Given the description of an element on the screen output the (x, y) to click on. 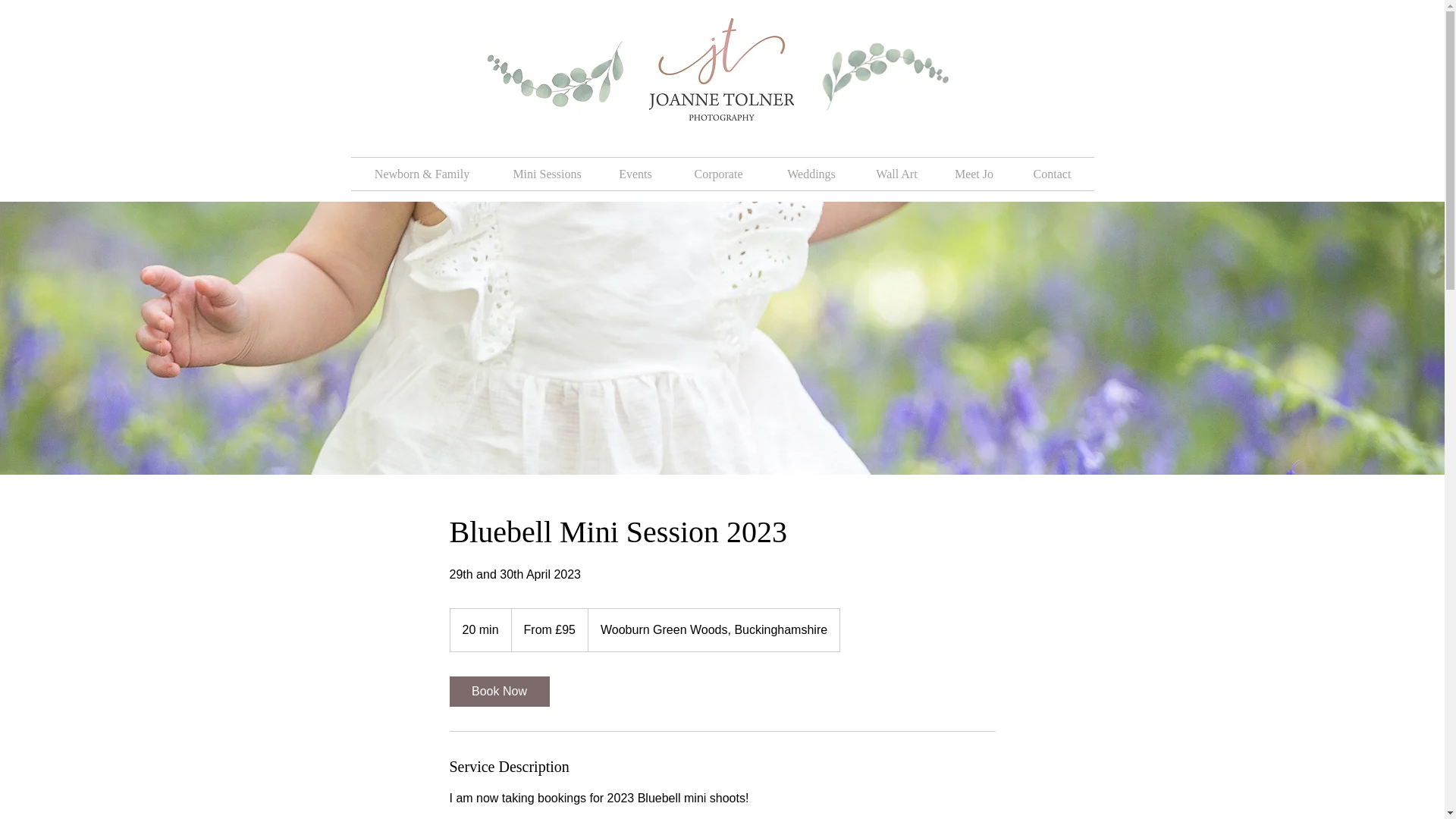
Weddings (811, 174)
Contact (1051, 174)
Meet Jo (973, 174)
Wall Art (896, 174)
Book Now (498, 691)
Corporate (718, 174)
Mini Sessions (546, 174)
Events (634, 174)
